Given the description of an element on the screen output the (x, y) to click on. 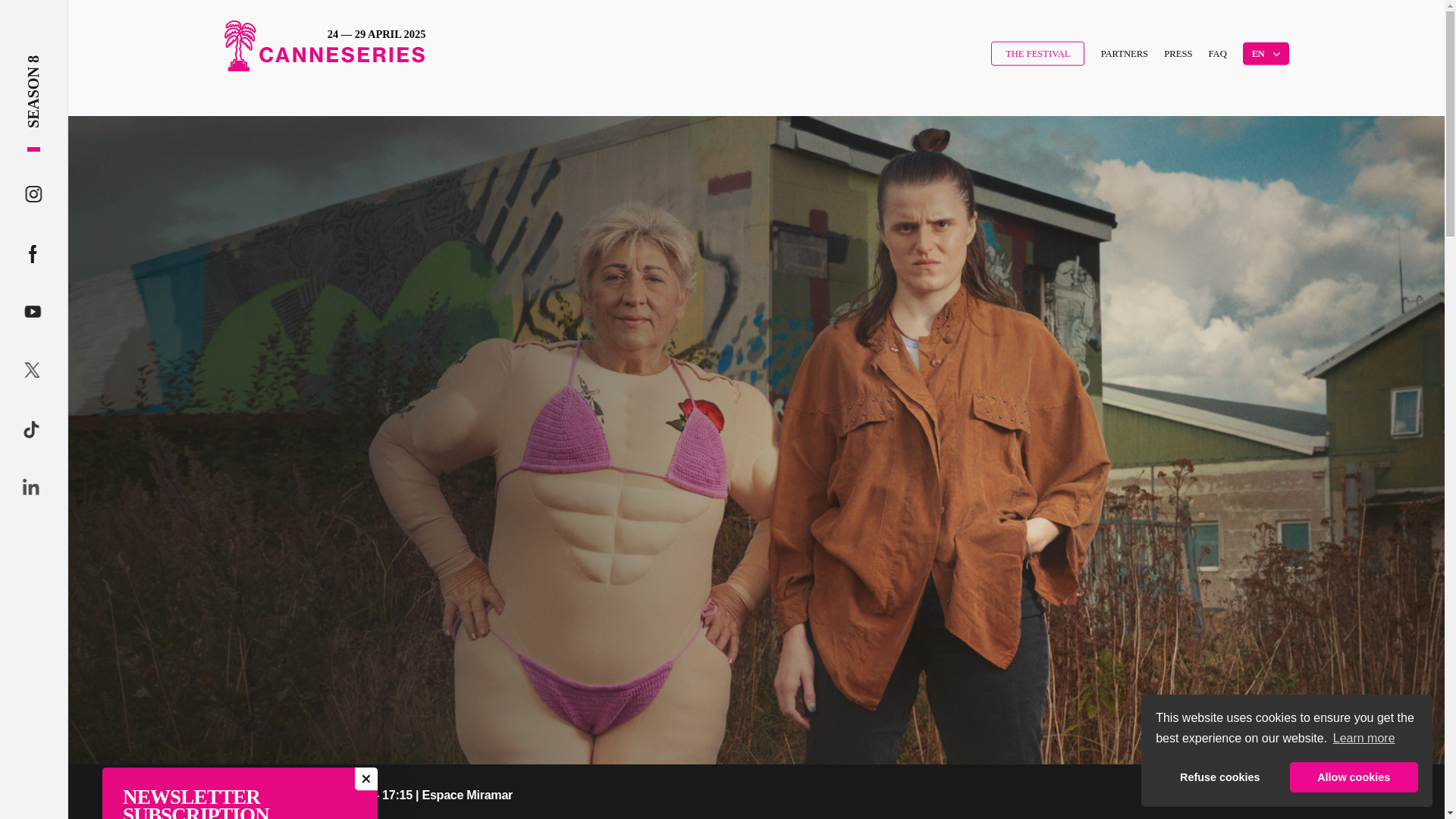
Refuse cookies (1220, 777)
PRESS (1177, 52)
Learn more (1363, 738)
Allow cookies (1354, 777)
PARTNERS (1124, 52)
FAQ (1217, 52)
